Given the description of an element on the screen output the (x, y) to click on. 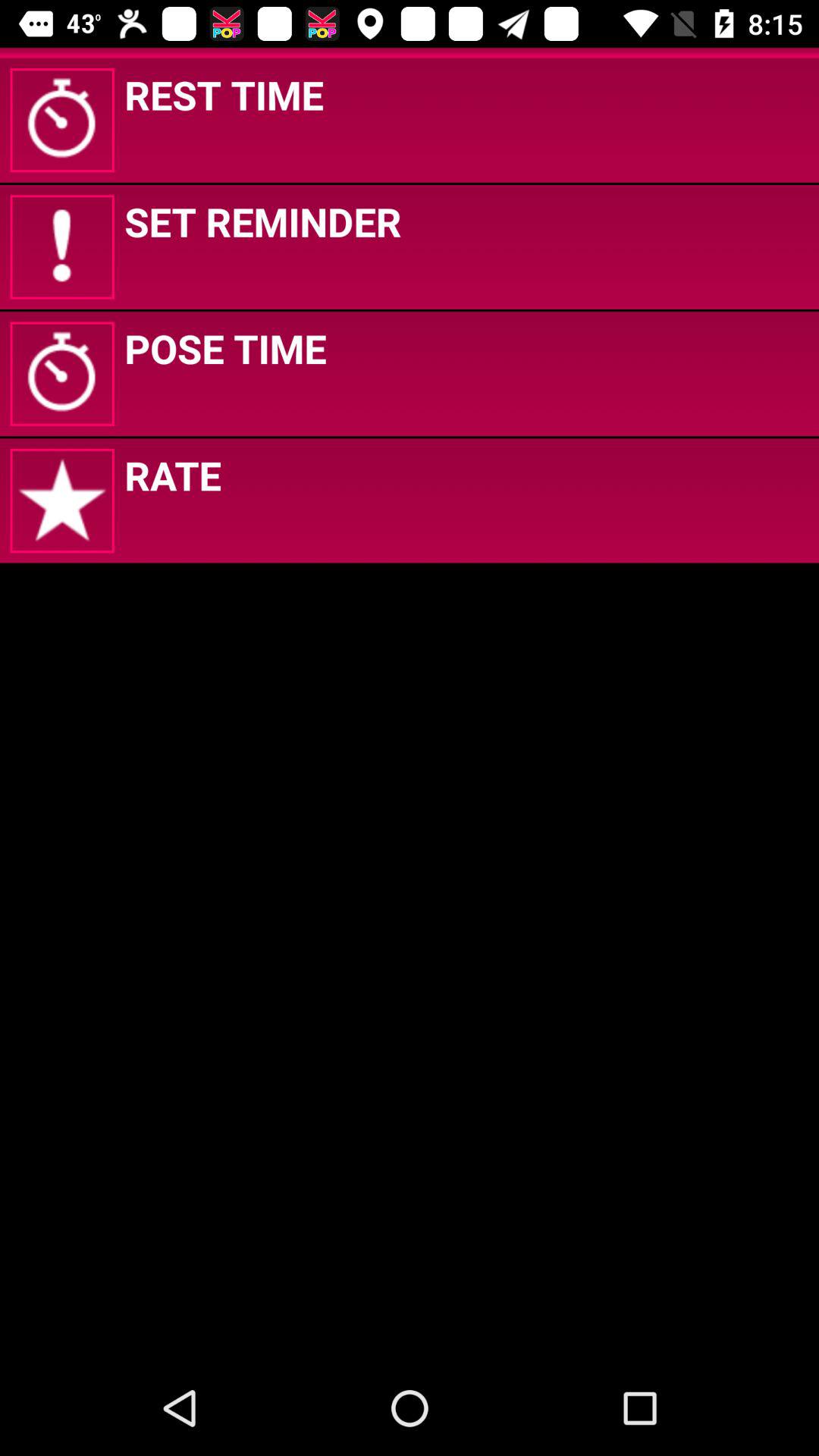
launch item above rate app (225, 347)
